Given the description of an element on the screen output the (x, y) to click on. 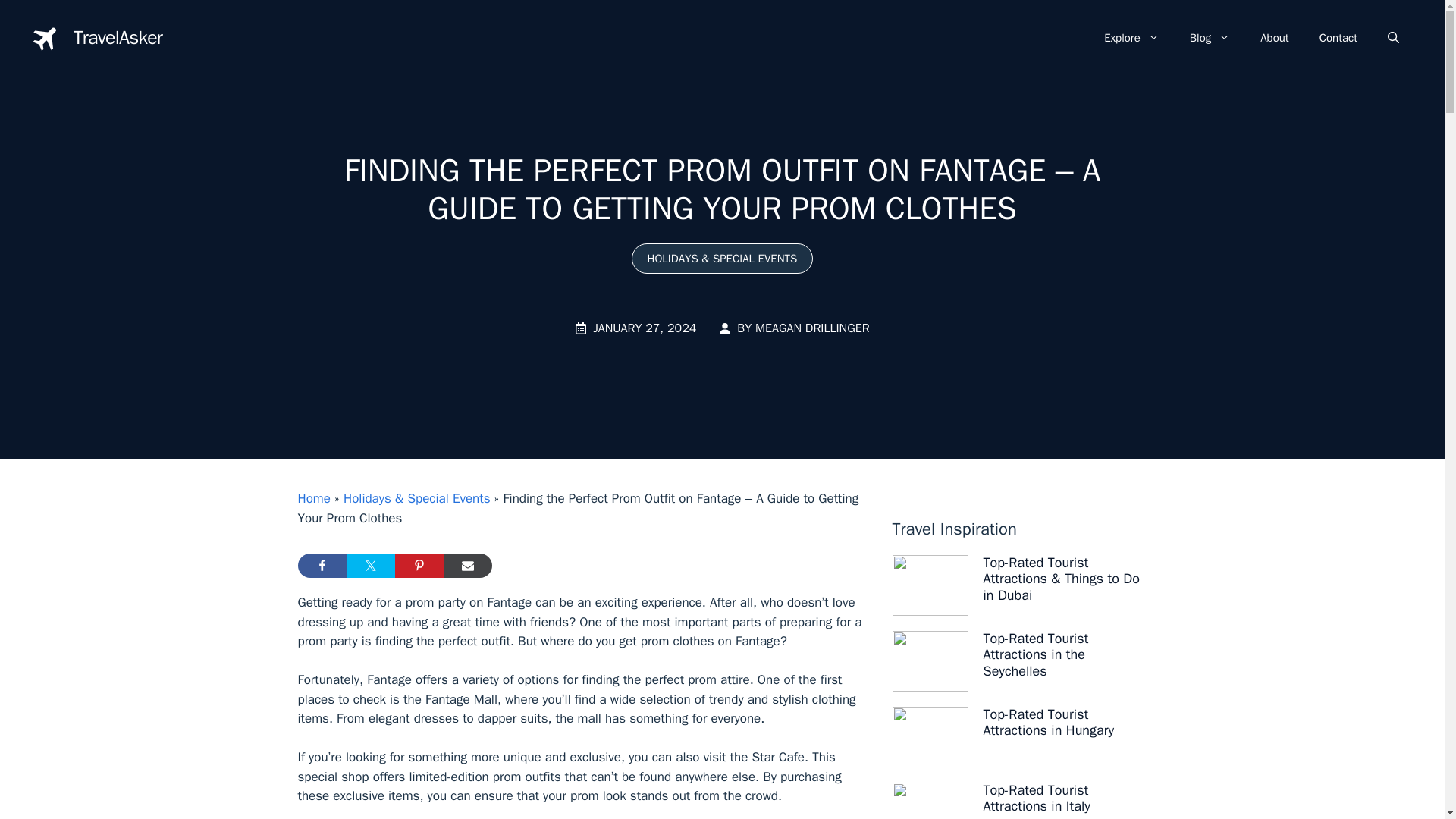
Explore (1131, 37)
About (1273, 37)
Share on Facebook (321, 565)
Contact (1338, 37)
Share on Twitter (370, 565)
Blog (1209, 37)
TravelAsker (117, 37)
MEAGAN DRILLINGER (812, 328)
Share via Email (467, 565)
Share on Pinterest (418, 565)
